Given the description of an element on the screen output the (x, y) to click on. 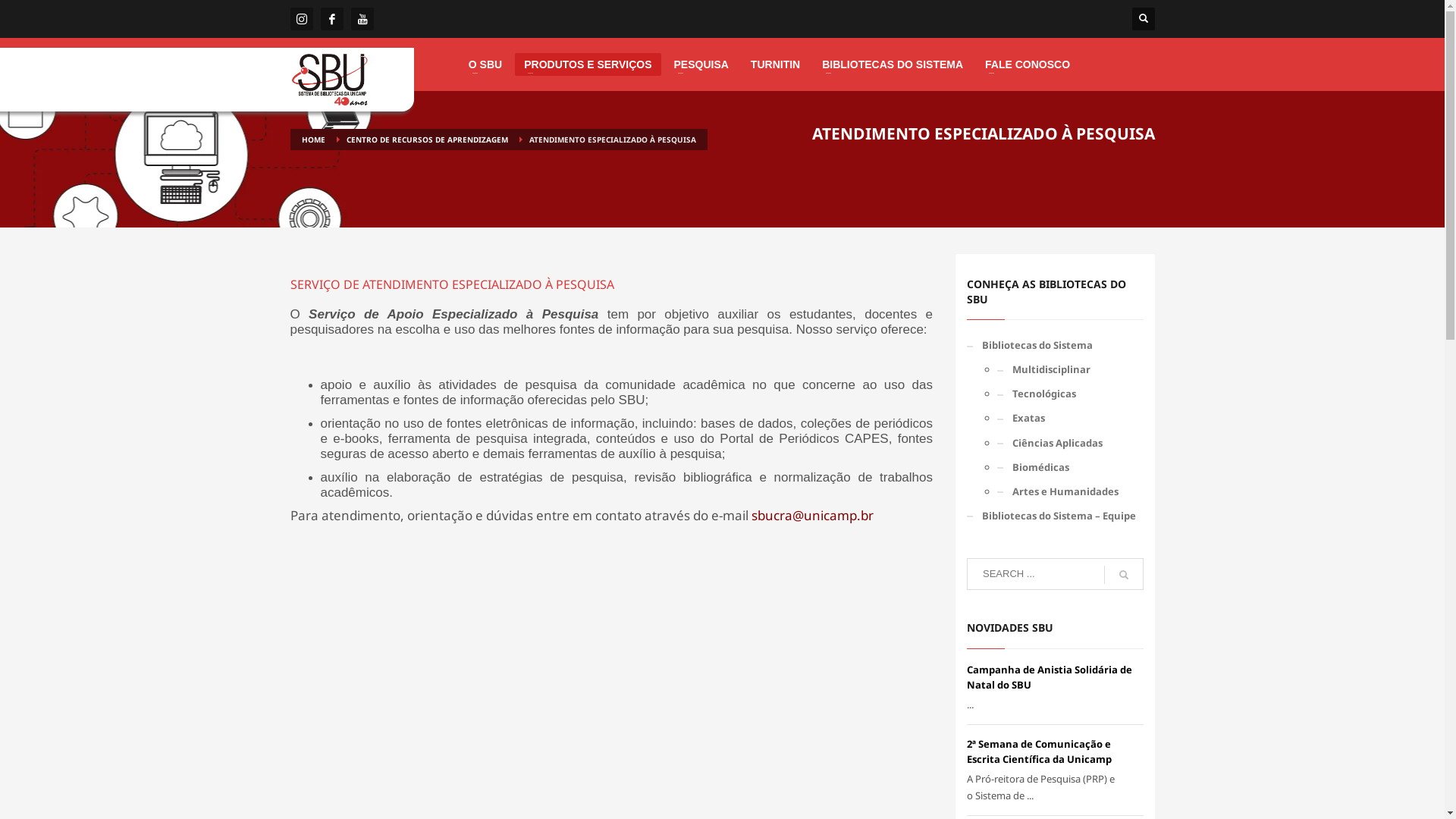
TURNITIN Element type: text (775, 64)
HOME Element type: text (313, 139)
Multidisciplinar Element type: text (1070, 369)
Bibliotecas do Sistema Element type: text (1054, 344)
PESQUISA Element type: text (700, 64)
O SBU Element type: text (485, 64)
SBU no Facebook Element type: hover (331, 18)
FALE CONOSCO Element type: text (1027, 64)
Exatas Element type: text (1070, 417)
CENTRO DE RECURSOS DE APRENDIZAGEM Element type: text (426, 139)
Pesquise no Acervo da Unicamp Element type: hover (328, 79)
Artes e Humanidades Element type: text (1070, 491)
Nosso canal no Youtube Element type: hover (361, 18)
go Element type: text (1123, 574)
Siga o SBU no Instagram! Element type: hover (300, 18)
BIBLIOTECAS DO SISTEMA Element type: text (892, 64)
